Given the description of an element on the screen output the (x, y) to click on. 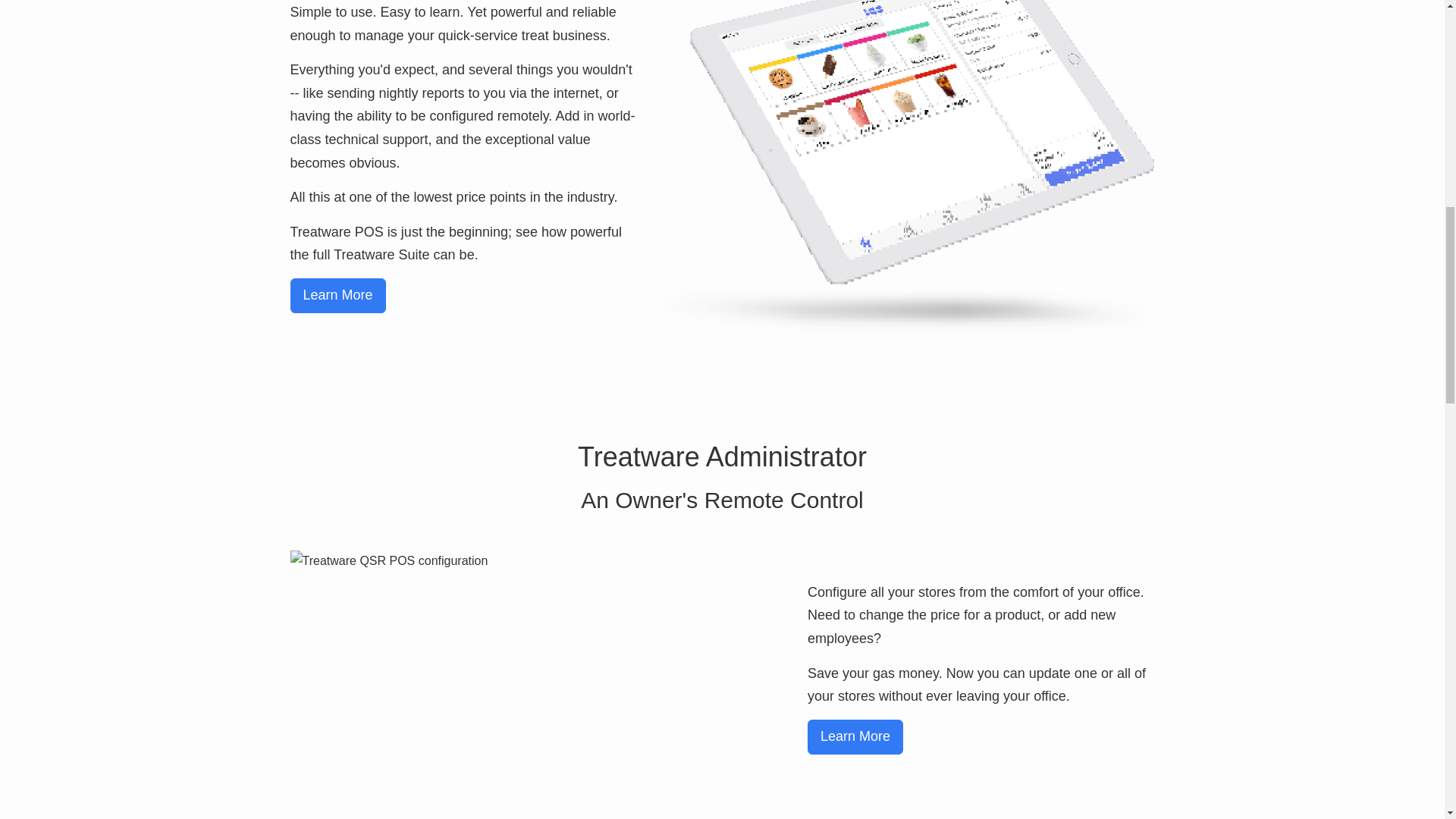
Learn More (337, 295)
Treatware Learn More (337, 295)
Learn More (855, 736)
Treatware Learn More (855, 736)
